Given the description of an element on the screen output the (x, y) to click on. 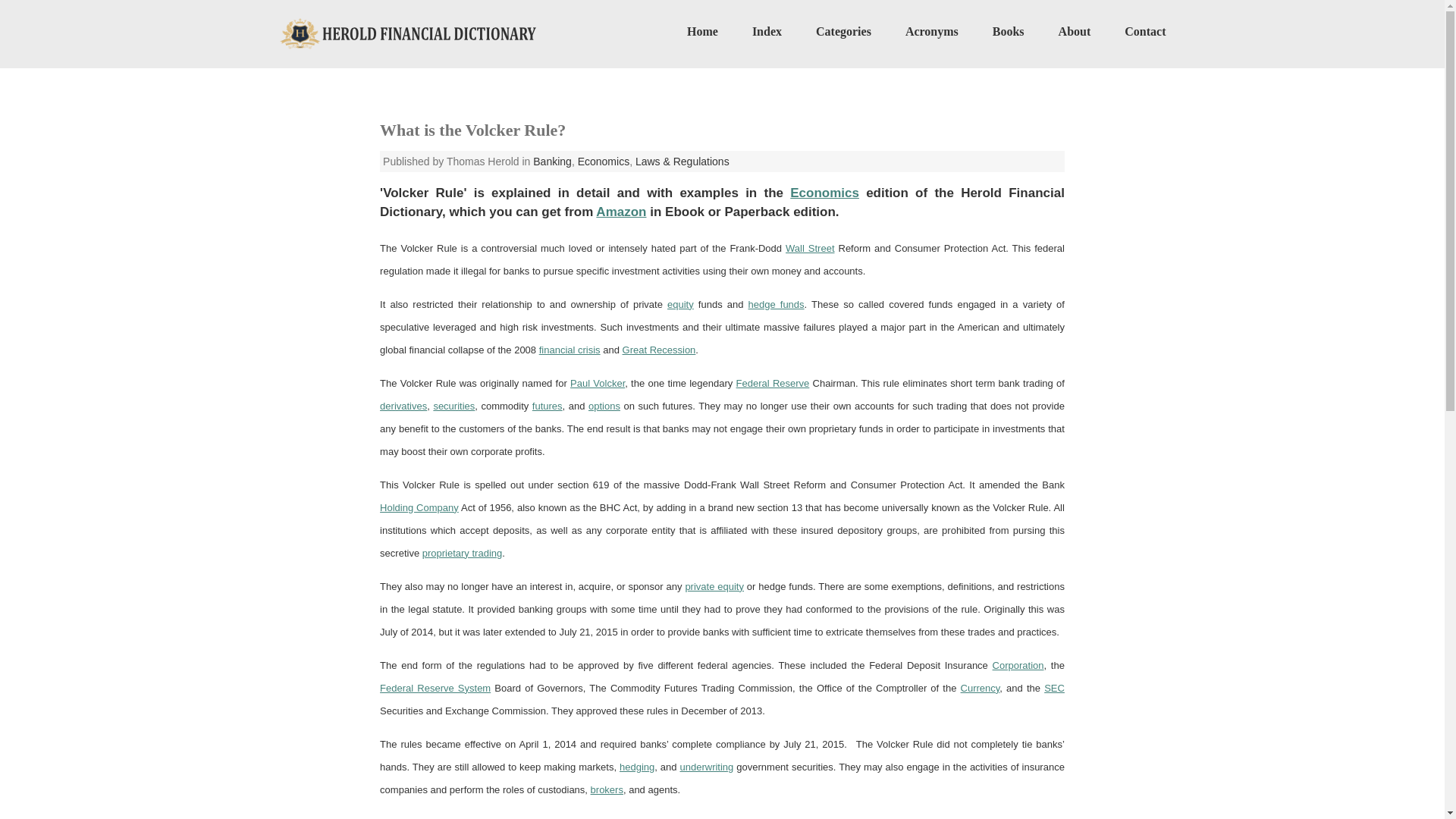
equity (680, 304)
financial crisis (568, 349)
Financial terms sorted by categories (842, 31)
hedge funds (776, 304)
Wall Street (810, 247)
Categories (842, 31)
derivatives (403, 405)
Holding Company (419, 507)
futures (547, 405)
Federal Reserve (772, 383)
